Given the description of an element on the screen output the (x, y) to click on. 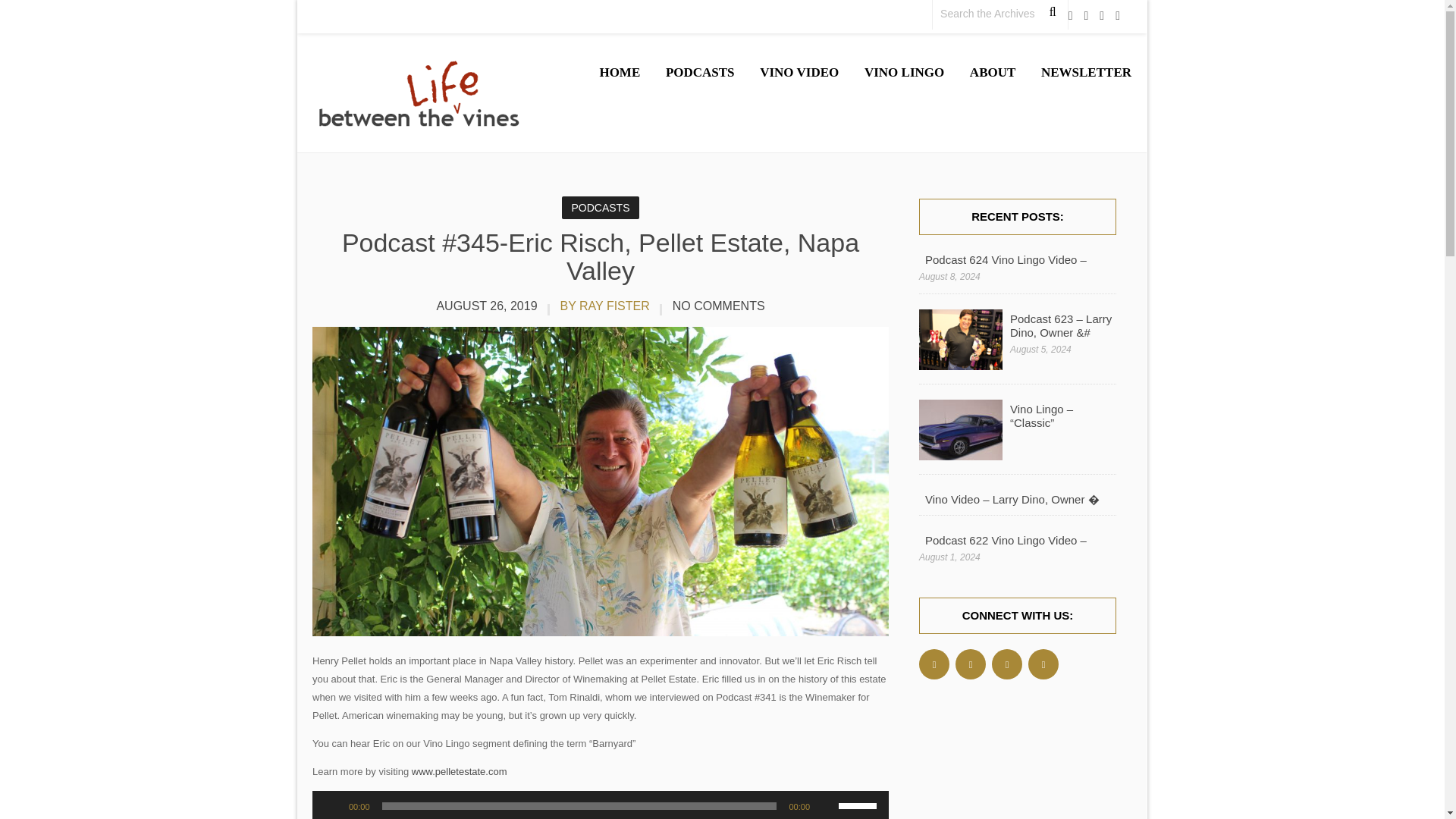
AUGUST 26, 2019 (486, 305)
PODCASTS (600, 207)
NO COMMENTS (718, 305)
www.pelletestate.com (459, 771)
Mute (826, 806)
PODCASTS (699, 72)
BY RAY FISTER (604, 305)
Play (331, 806)
HOME (619, 72)
